Given the description of an element on the screen output the (x, y) to click on. 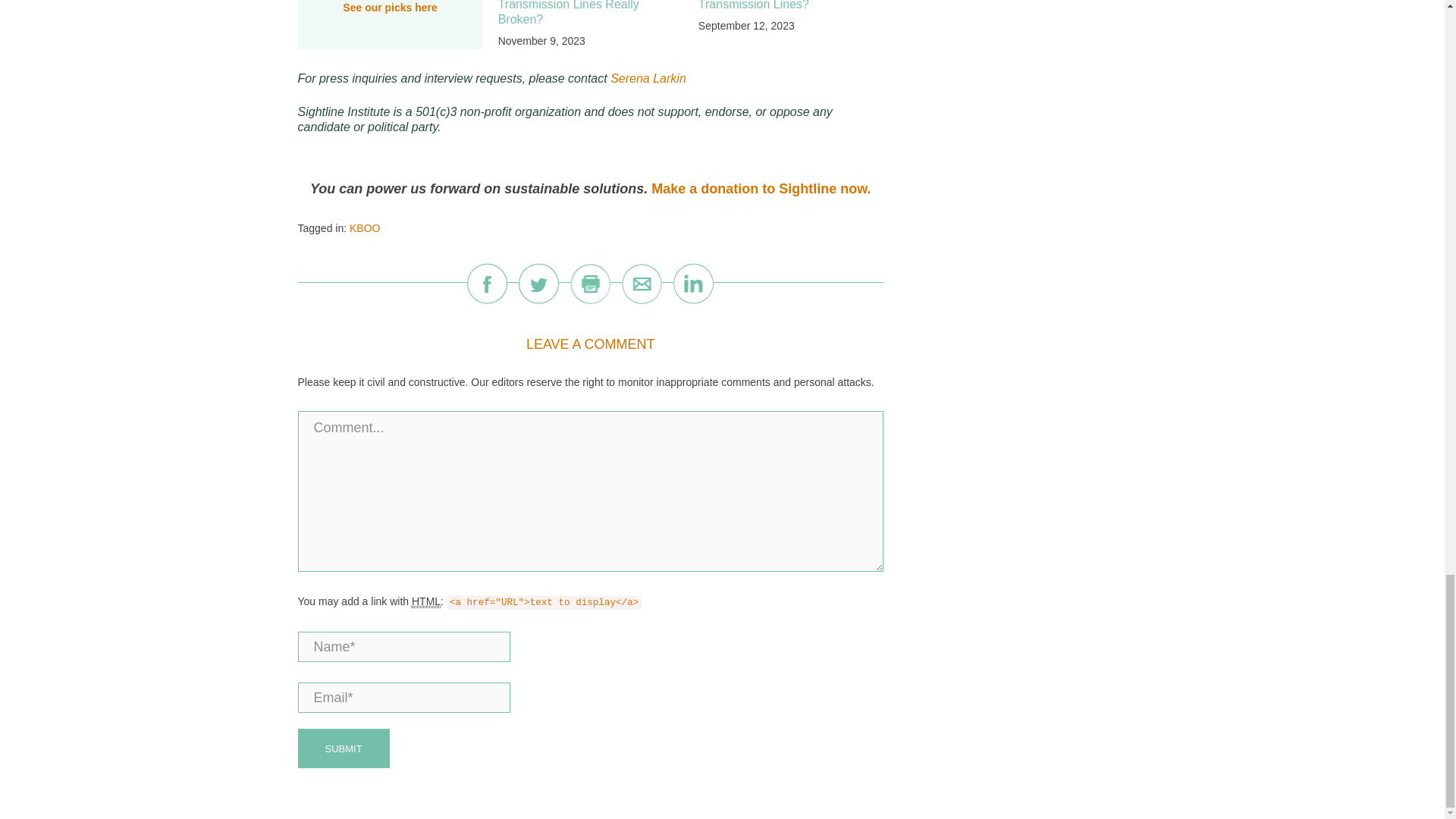
Share This Post on LinkedIN (692, 282)
Submit (342, 748)
Share This Post by Email (641, 282)
